Given the description of an element on the screen output the (x, y) to click on. 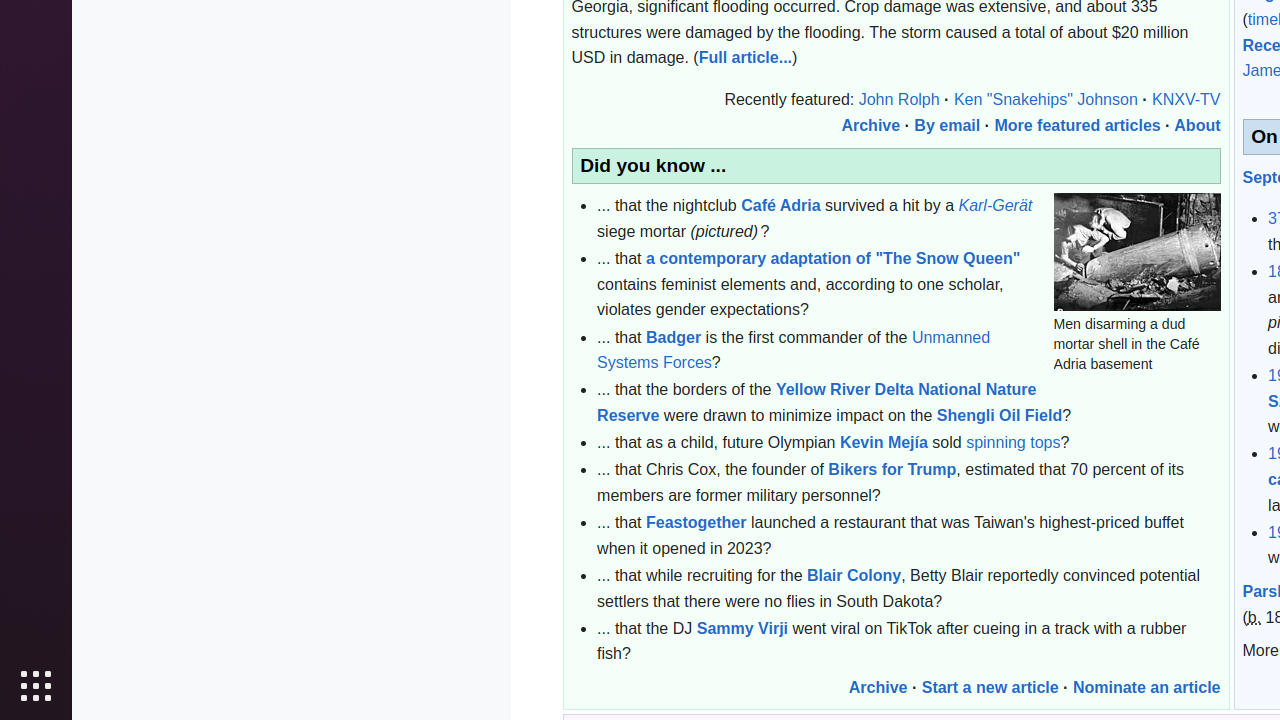
Badger Element type: link (674, 337)
Sammy Virji Element type: link (742, 628)
Kevin Mejía Element type: link (883, 443)
About Element type: link (1197, 125)
Nominate an article Element type: link (1146, 687)
